Given the description of an element on the screen output the (x, y) to click on. 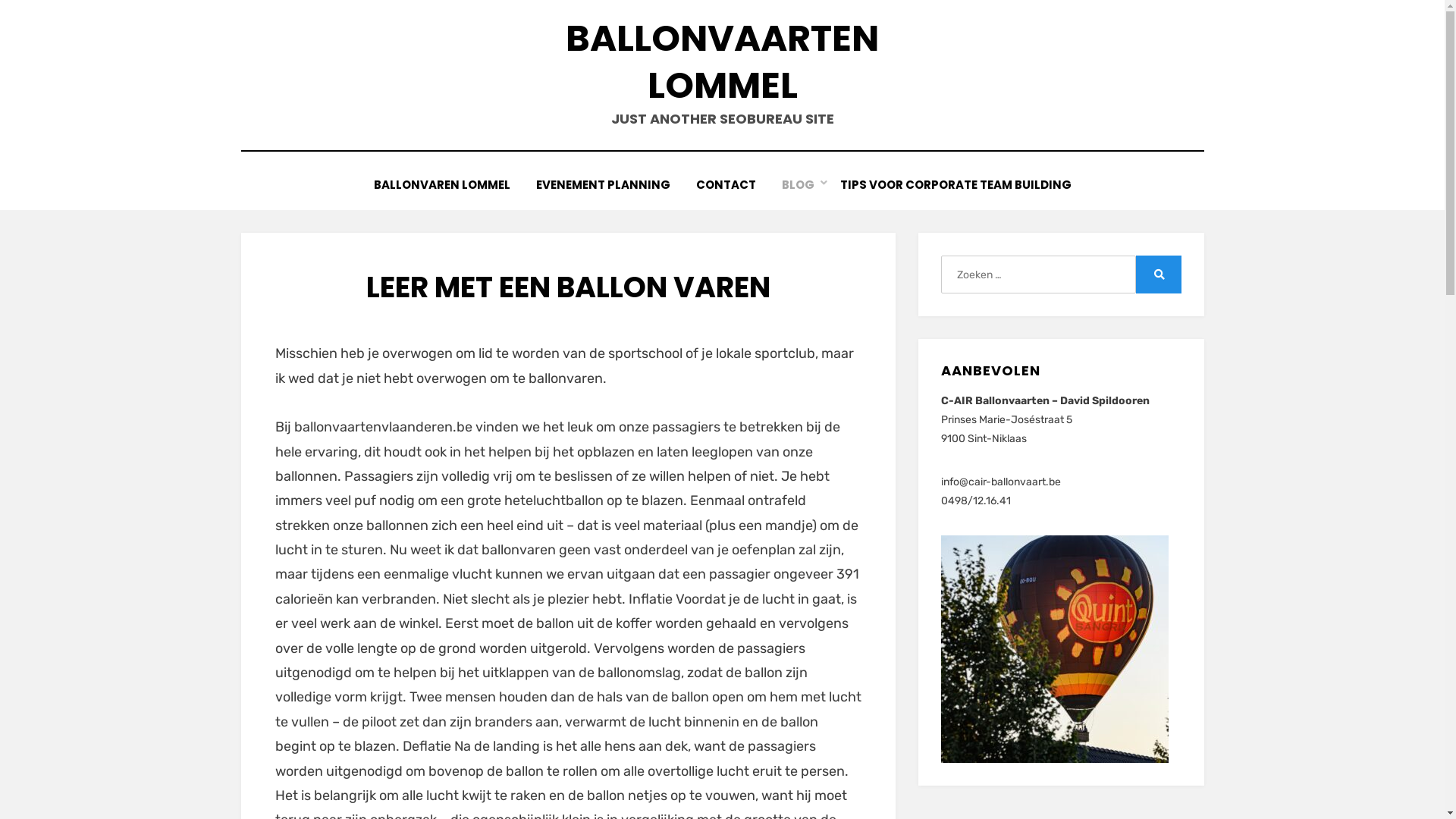
BALLONVAREN LOMMEL Element type: text (441, 184)
EVENEMENT PLANNING Element type: text (603, 184)
BLOG Element type: text (797, 184)
info@cair-ballonvaart.be Element type: text (1000, 481)
Zoeken Element type: text (1158, 274)
0498/12.16.41 Element type: text (975, 500)
BALLONVAARTEN LOMMEL Element type: text (721, 61)
Zoeken naar: Element type: hover (1038, 274)
CONTACT Element type: text (725, 184)
TIPS VOOR CORPORATE TEAM BUILDING Element type: text (954, 184)
